Given the description of an element on the screen output the (x, y) to click on. 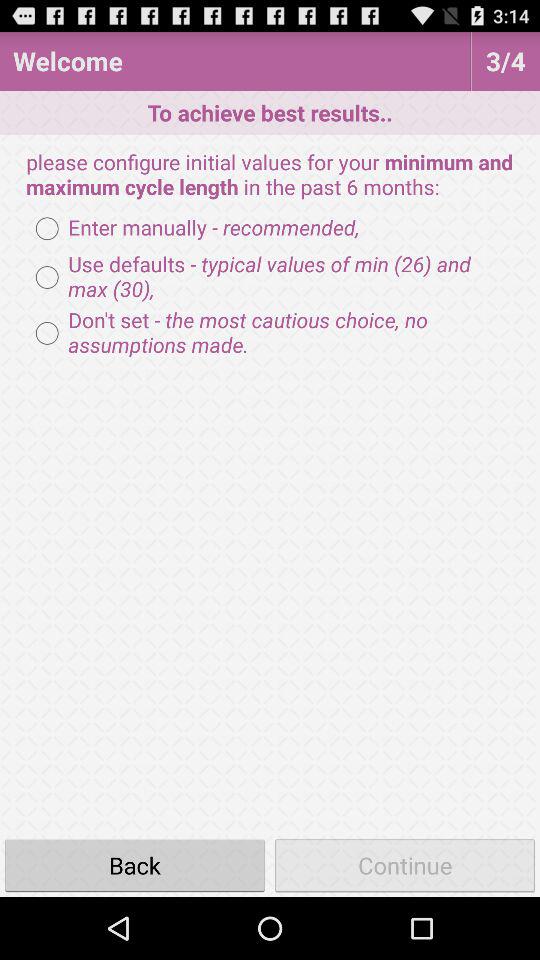
tap the continue icon (405, 864)
